Given the description of an element on the screen output the (x, y) to click on. 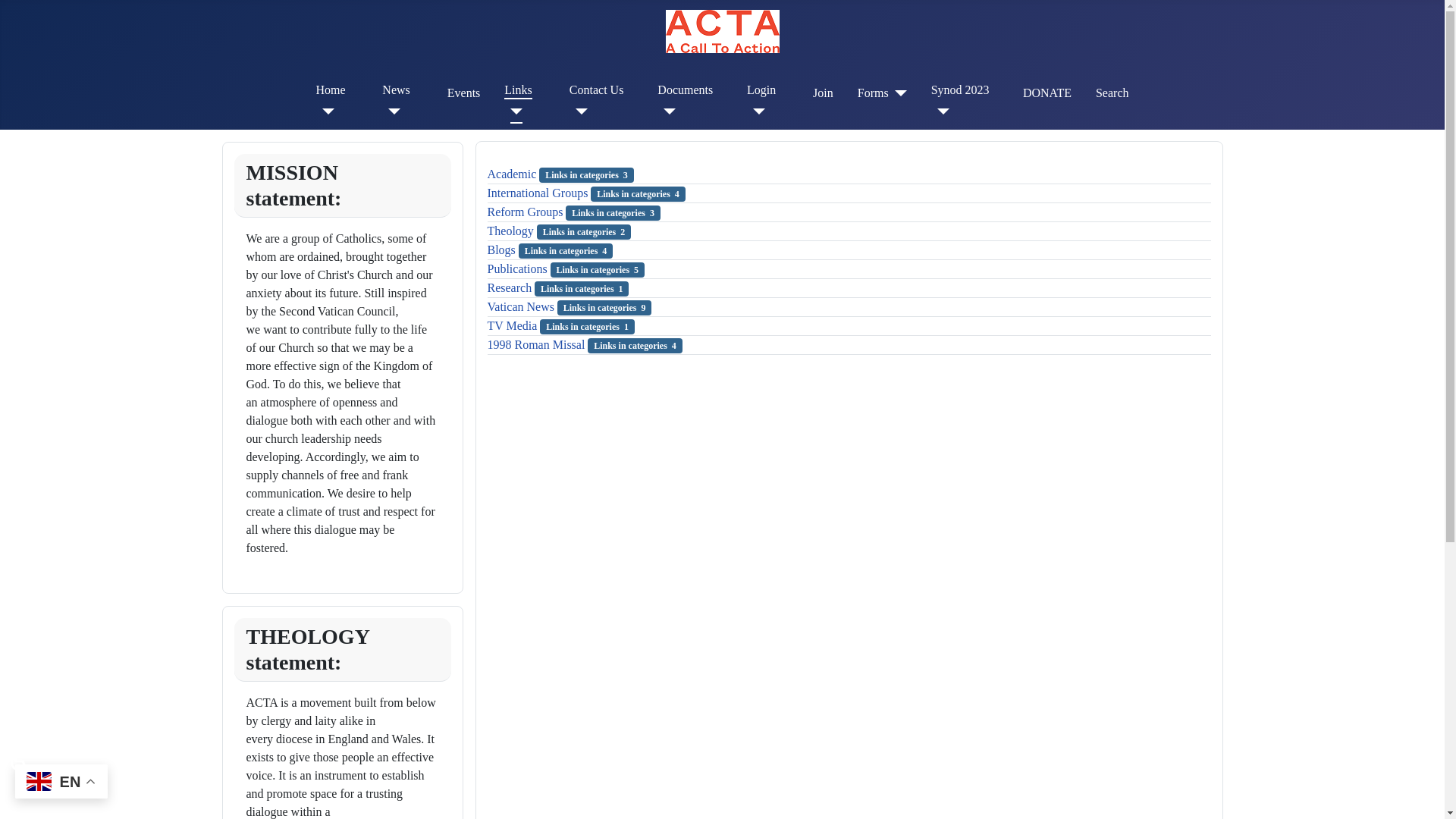
Links (517, 90)
Forms (882, 93)
News (395, 90)
Documents (685, 90)
Events (463, 93)
Synod 2023 (960, 90)
Login (761, 90)
Contact Us (596, 90)
Join (822, 93)
Home (330, 90)
